Given the description of an element on the screen output the (x, y) to click on. 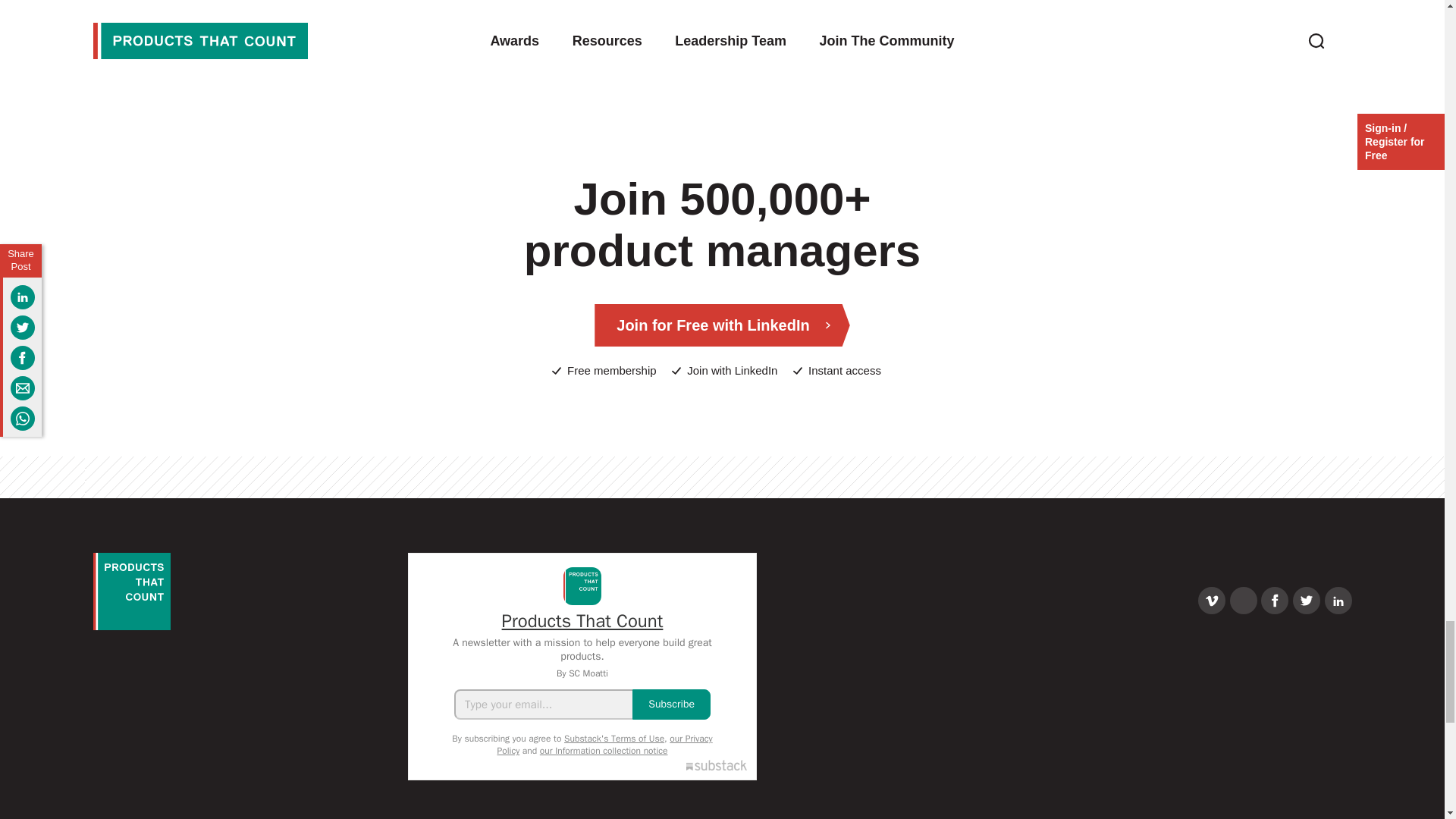
Instant access (836, 370)
Free membership (603, 370)
Join with LinkedIn (724, 370)
Join for Free with LinkedIn (721, 324)
